Given the description of an element on the screen output the (x, y) to click on. 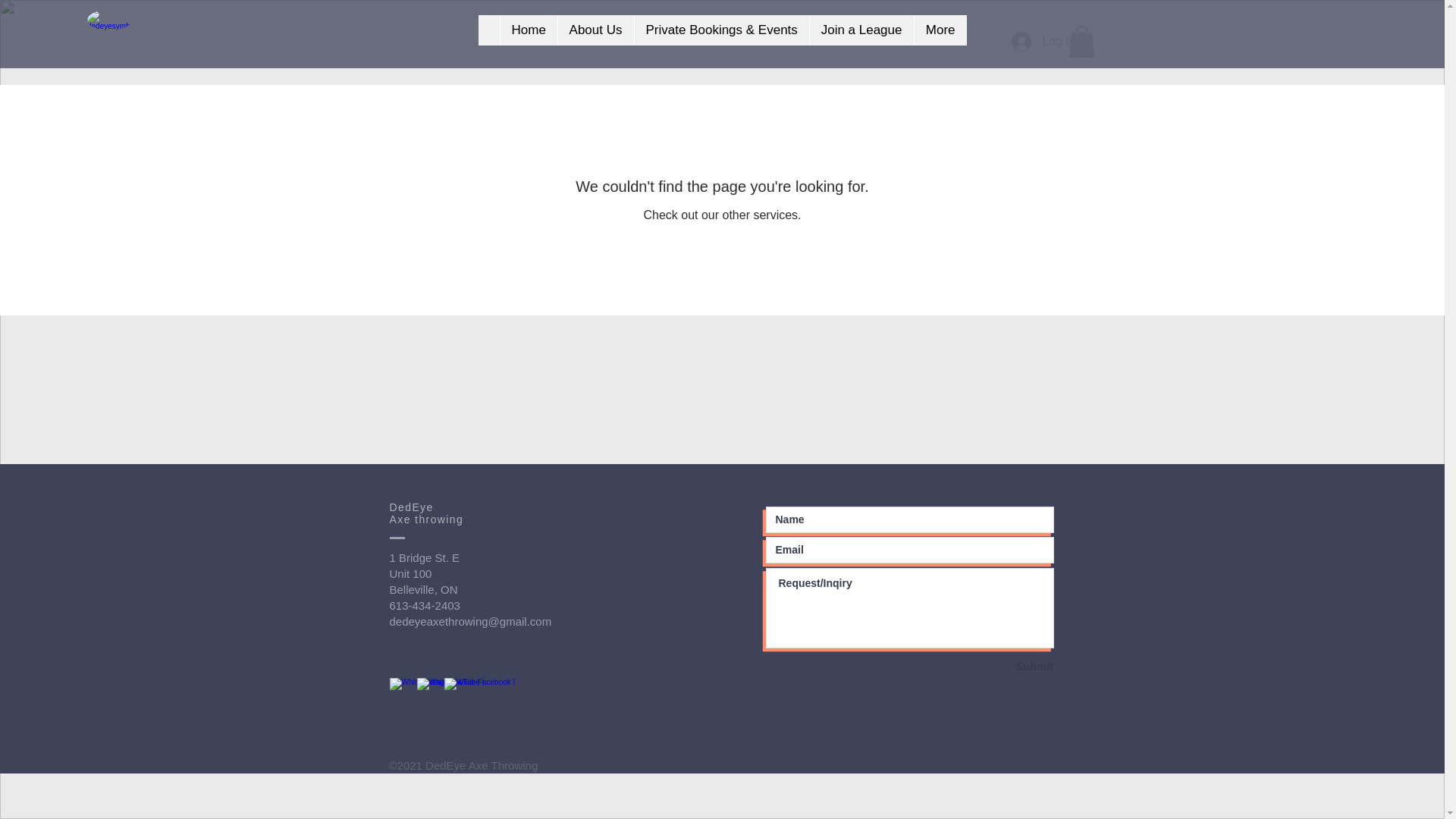
Home (527, 30)
Join a League (860, 30)
Submit (1000, 665)
About Us (594, 30)
Log In (1043, 41)
